Given the description of an element on the screen output the (x, y) to click on. 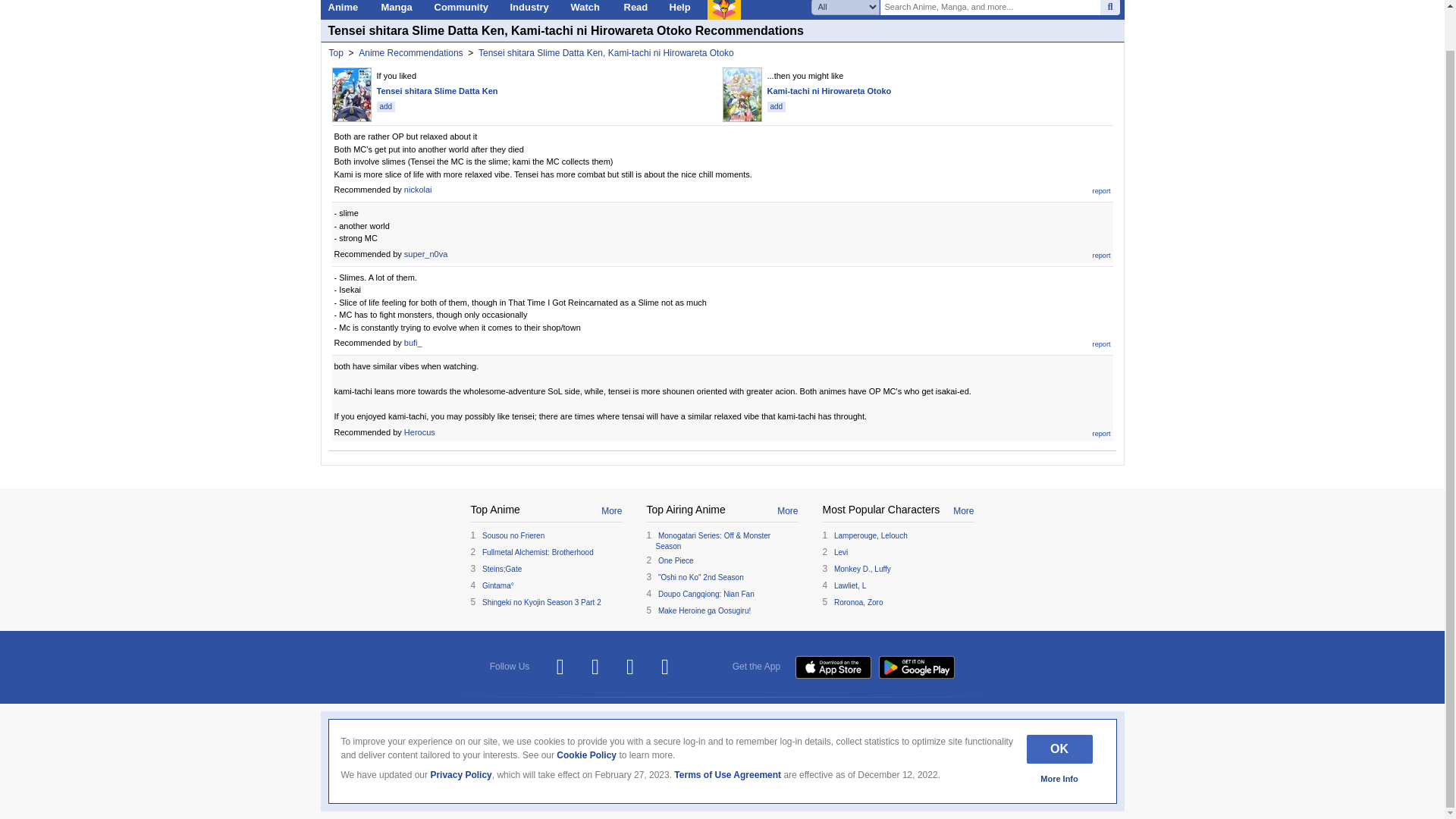
Join Discord Chat (665, 666)
Anime (346, 9)
Community (464, 9)
Tensei shitara Slime Datta Ken (436, 90)
Industry (532, 9)
Read (638, 9)
Manga (399, 9)
Kami-tachi ni Hirowareta Otoko (829, 90)
Watch (588, 9)
